Given the description of an element on the screen output the (x, y) to click on. 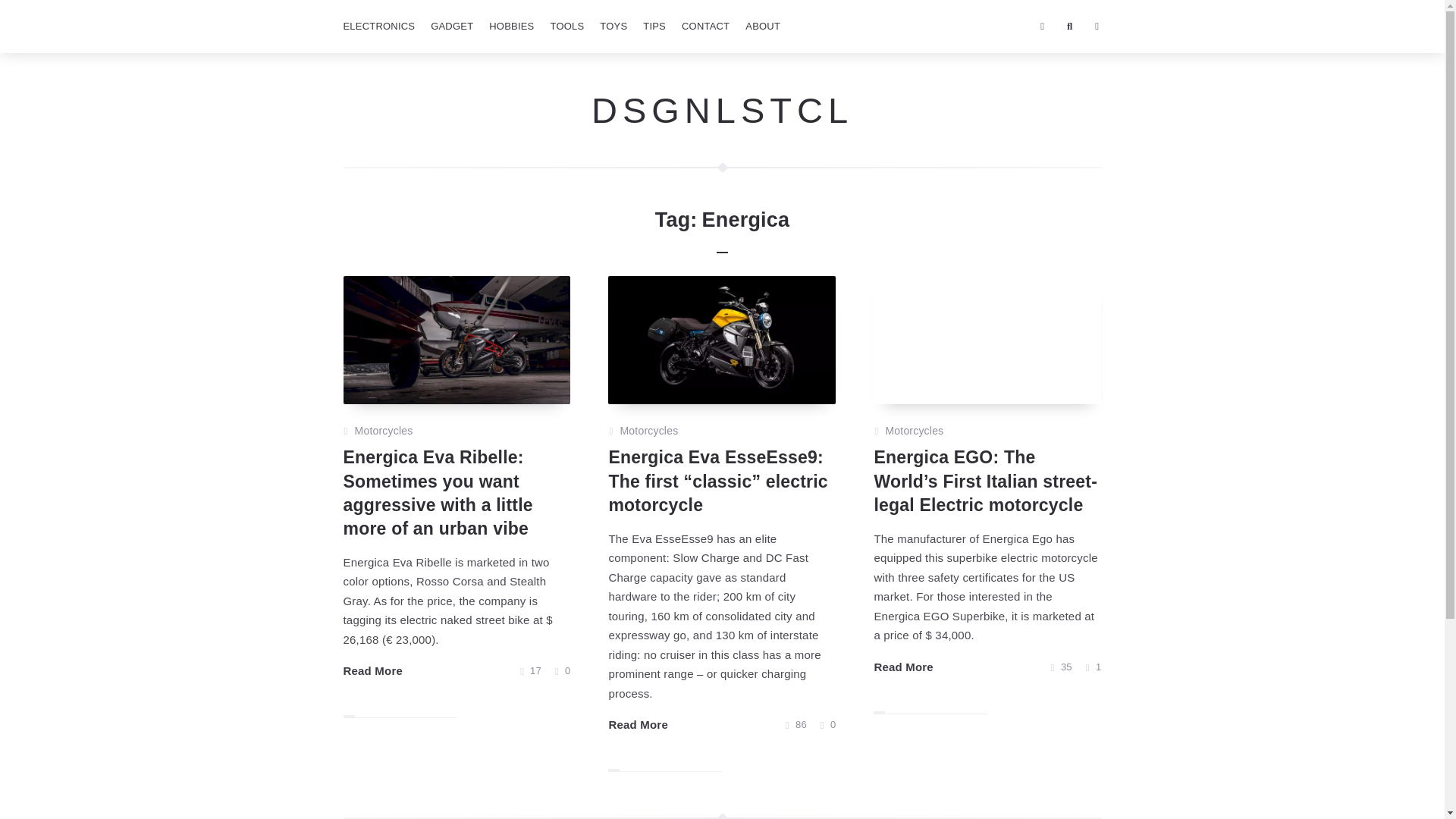
Motorcycles (649, 431)
Motorcycles (384, 431)
DSGNLSTCL (722, 110)
GADGET (451, 26)
CONTACT (705, 26)
Read More (372, 670)
86 (796, 724)
TOOLS (566, 26)
HOBBIES (511, 26)
Read More (638, 724)
ABOUT (762, 26)
ELECTRONICS (378, 26)
17 (530, 670)
